Given the description of an element on the screen output the (x, y) to click on. 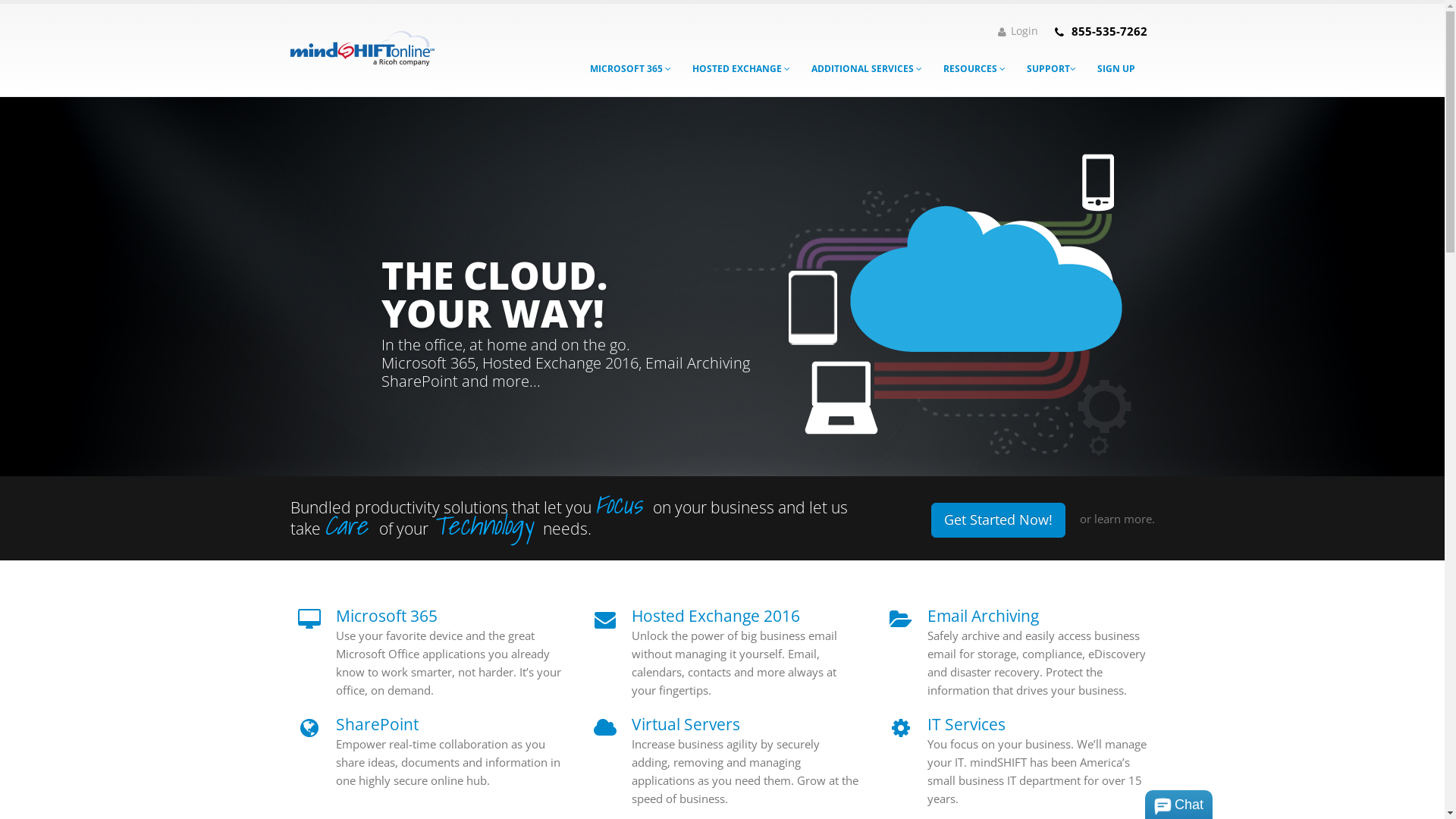
SharePoint Element type: text (376, 723)
Get Started Now! Element type: text (998, 519)
SUPPORT Element type: text (1050, 68)
learn more. Element type: text (1123, 518)
Hosted Exchange 2016 Element type: text (714, 615)
RESOURCES Element type: text (973, 68)
Microsoft 365 Element type: text (385, 615)
Email Archiving Element type: text (982, 615)
IT Services Element type: text (965, 723)
SIGN UP Element type: text (1116, 68)
MICROSOFT 365 Element type: text (629, 68)
Login Element type: text (1017, 30)
Virtual Servers Element type: text (684, 723)
ADDITIONAL SERVICES Element type: text (865, 68)
HOSTED EXCHANGE Element type: text (741, 68)
